Given the description of an element on the screen output the (x, y) to click on. 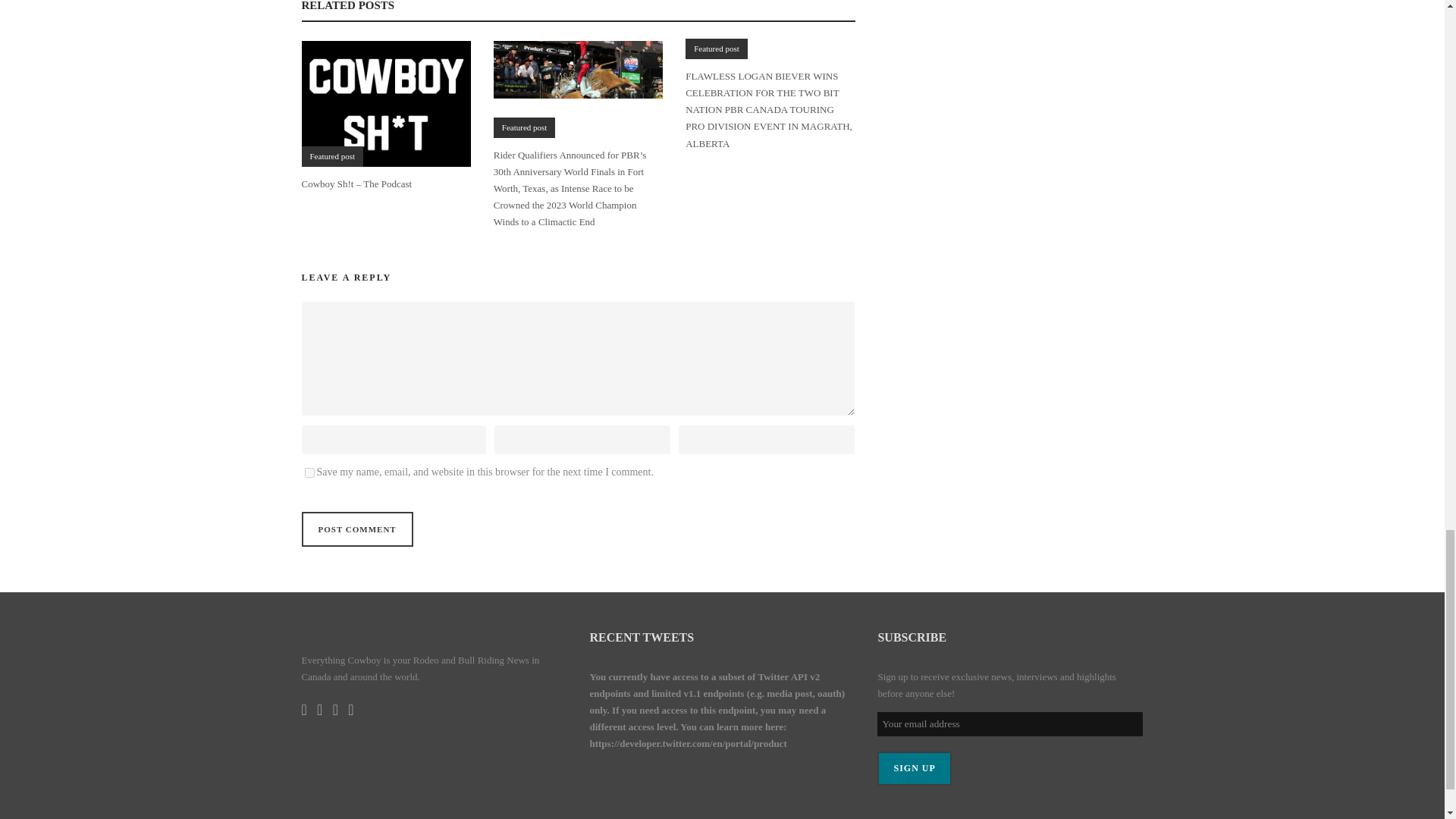
yes (309, 472)
Post Comment (357, 529)
Sign up (913, 768)
